Given the description of an element on the screen output the (x, y) to click on. 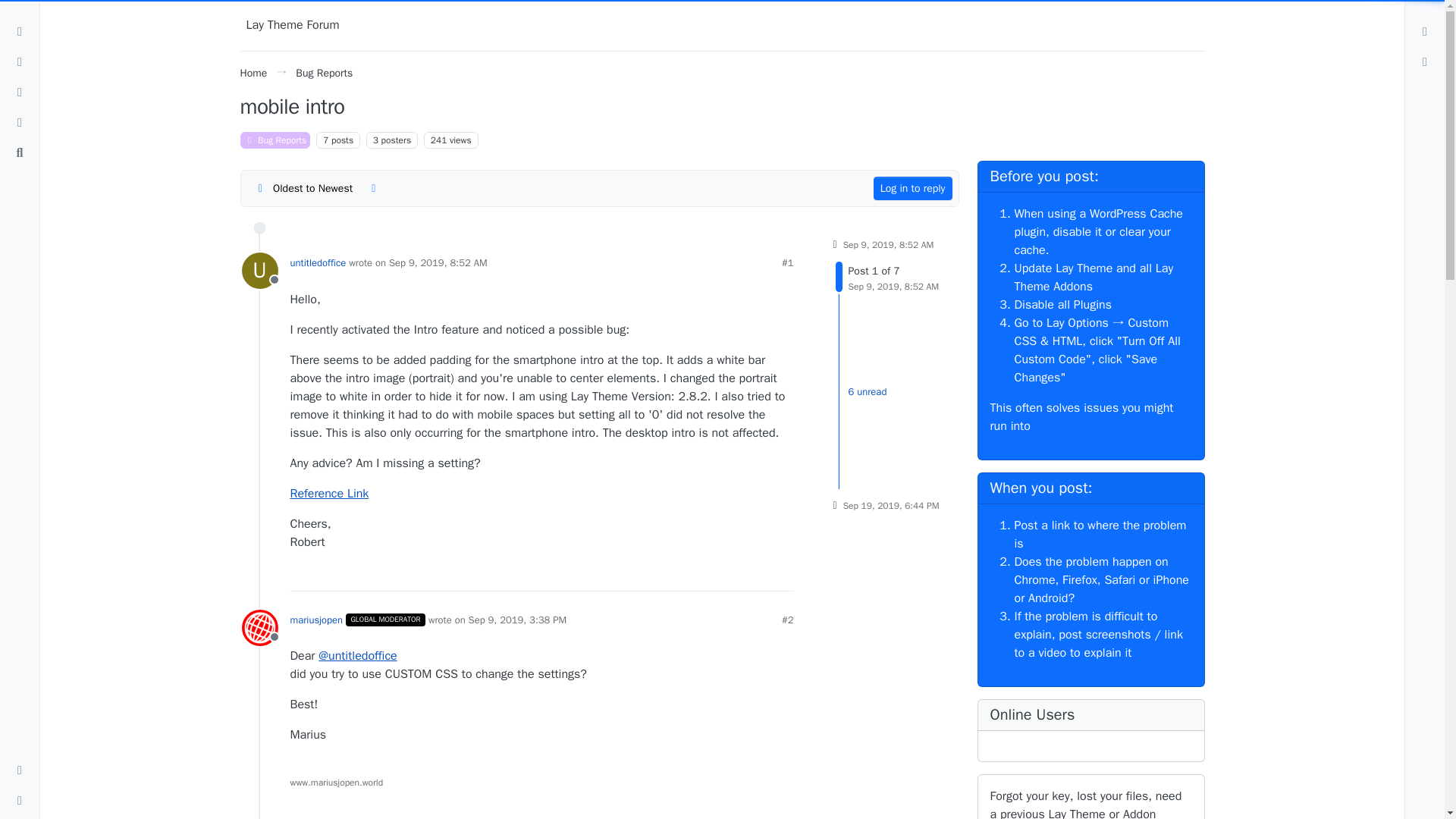
Sep 9, 2019, 8:52 AM (437, 262)
241 (438, 140)
Lay Theme Forum (292, 25)
untitledoffice (259, 270)
Bug Reports (887, 276)
mariusjopen (275, 139)
Home (259, 627)
Bug Reports (253, 72)
